Given the description of an element on the screen output the (x, y) to click on. 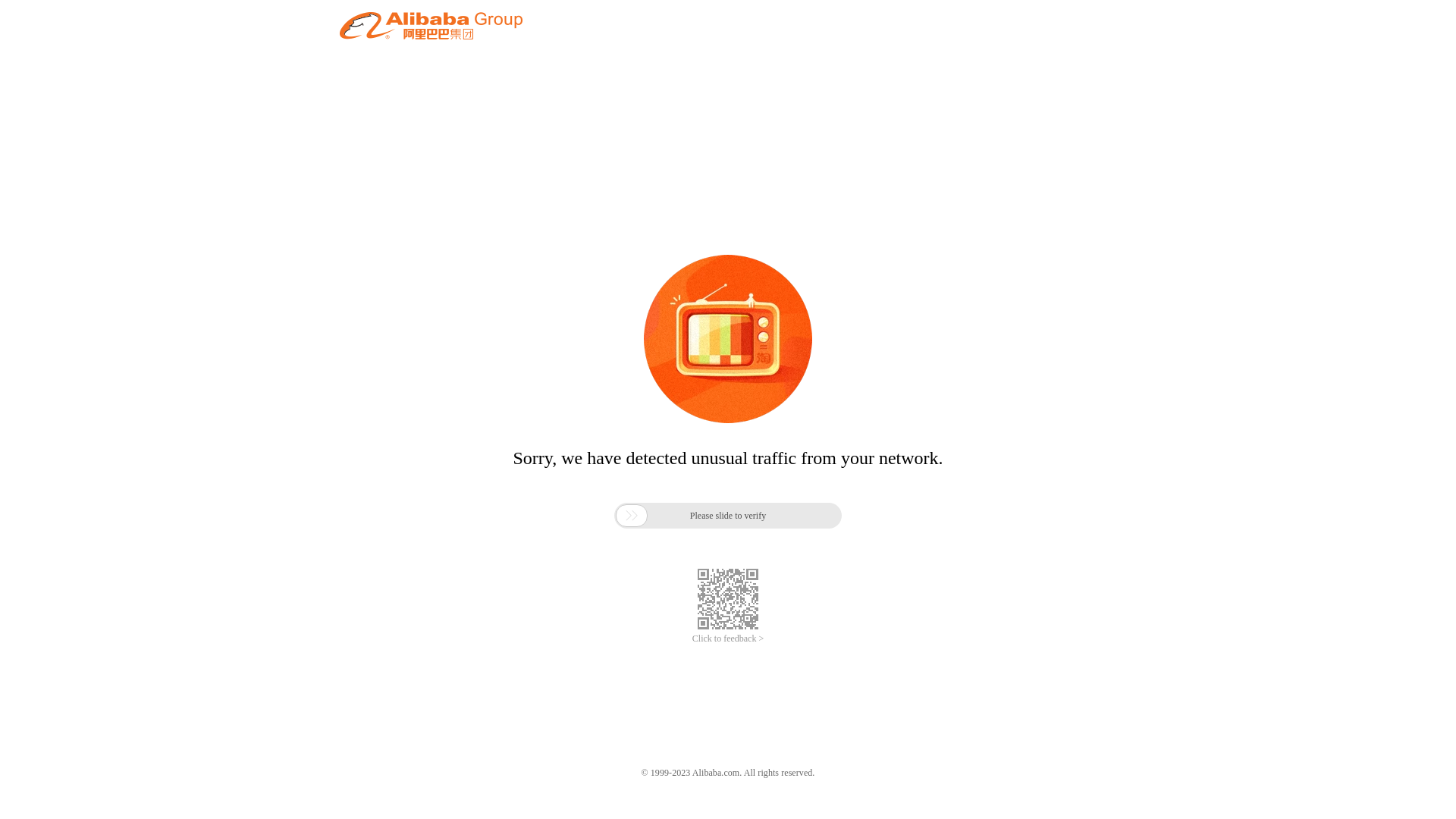
Click to feedback > Element type: text (727, 638)
